Given the description of an element on the screen output the (x, y) to click on. 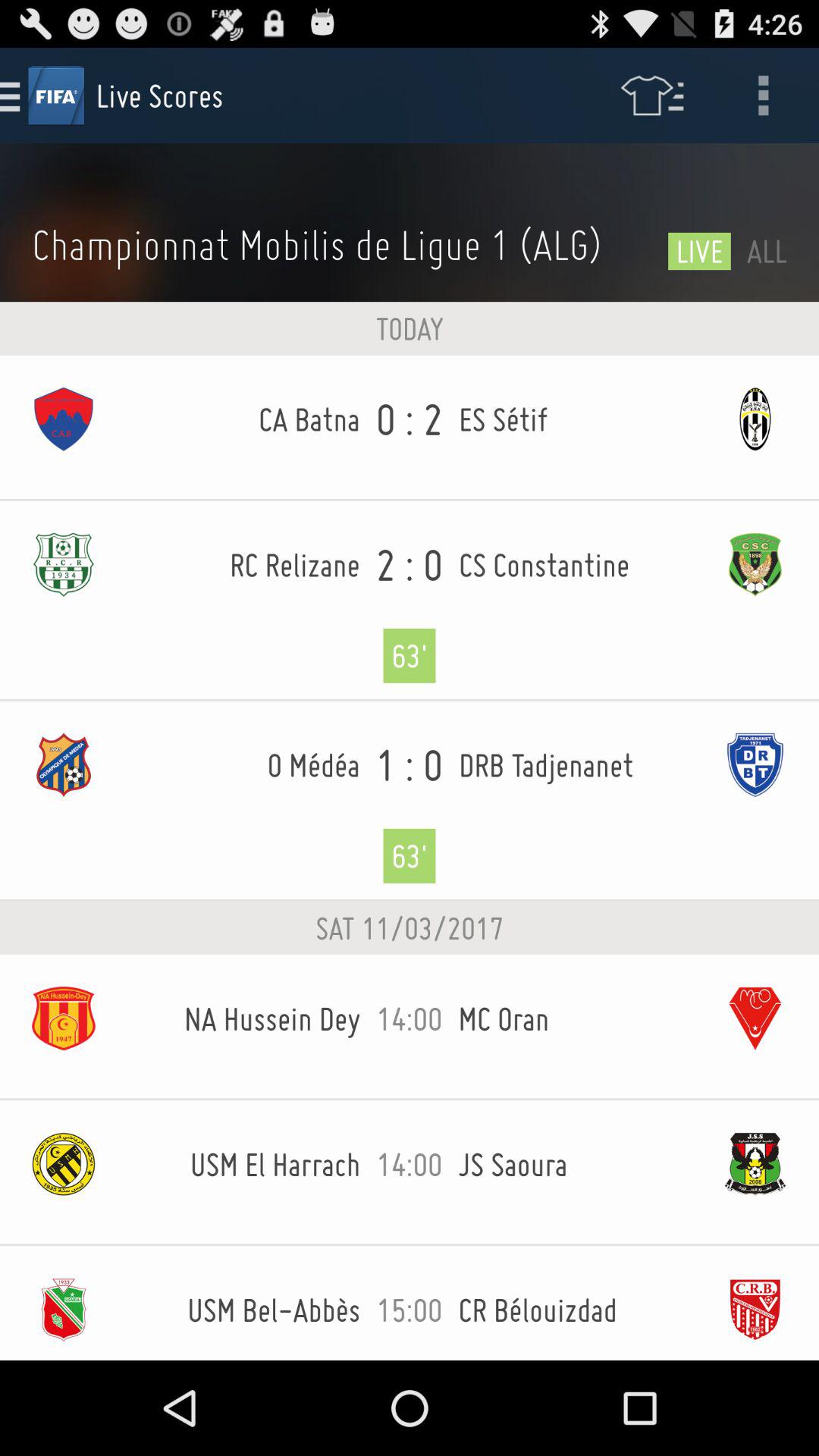
tap the icon next to the live (341, 244)
